Given the description of an element on the screen output the (x, y) to click on. 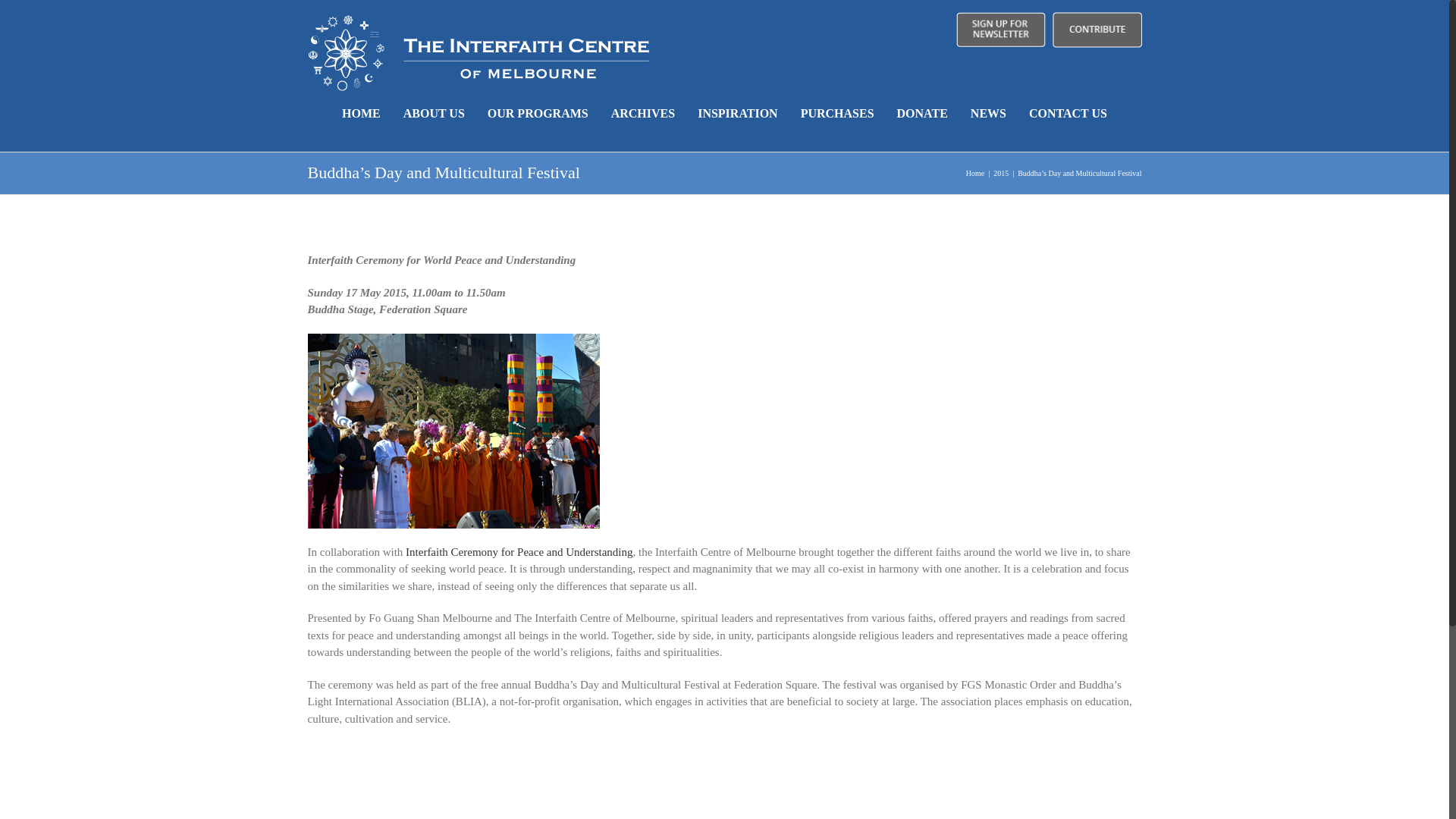
HOME (361, 113)
INSPIRATION (737, 113)
NEWS (988, 113)
OUR PROGRAMS (537, 113)
ABOUT US (433, 113)
PURCHASES (837, 113)
ARCHIVES (643, 113)
CONTACT US (1067, 113)
DONATE (921, 113)
